Given the description of an element on the screen output the (x, y) to click on. 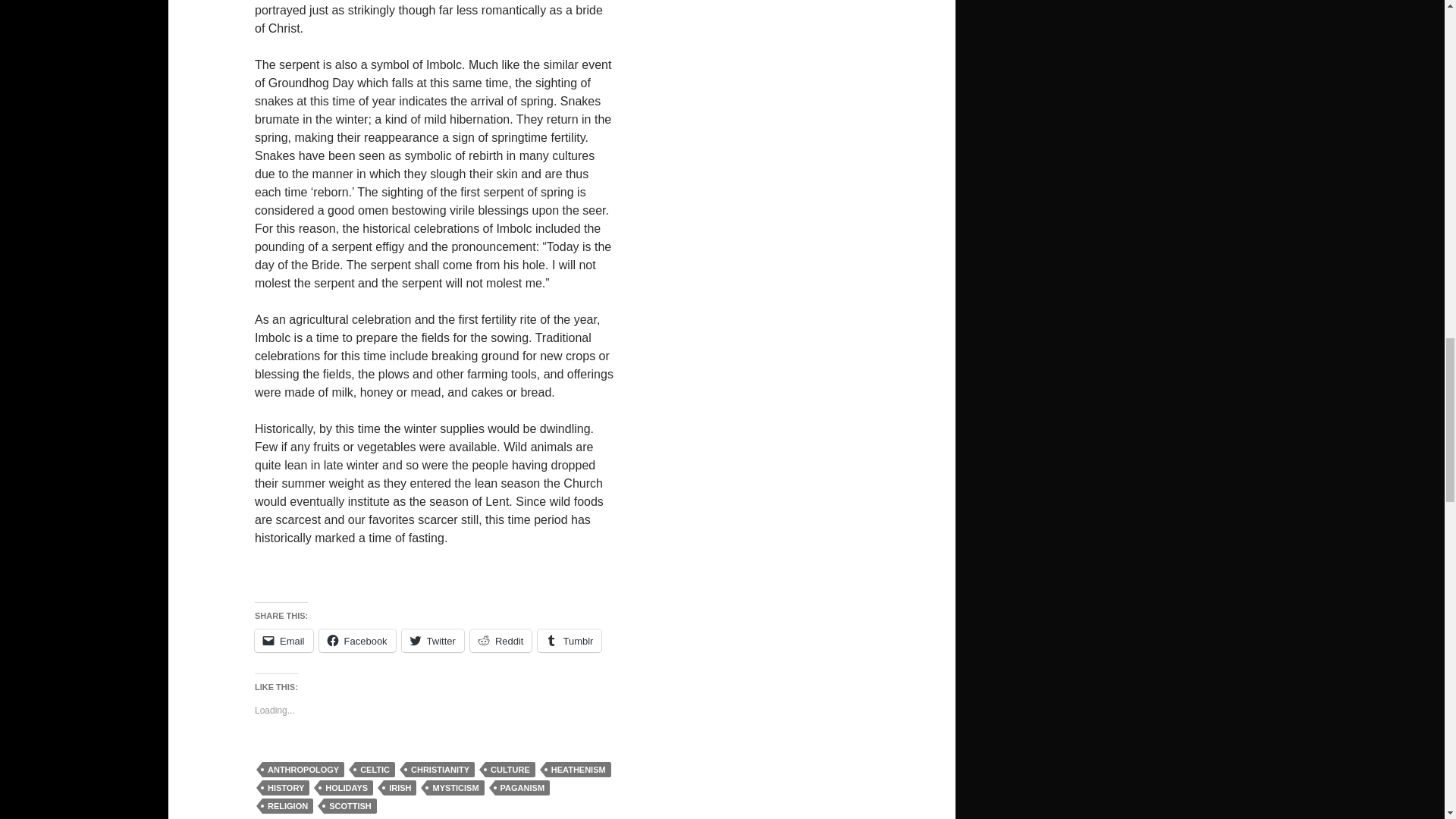
Click to share on Reddit (501, 640)
IRISH (400, 787)
Email (283, 640)
Click to share on Tumblr (569, 640)
CHRISTIANITY (440, 769)
HISTORY (285, 787)
CELTIC (374, 769)
Click to share on Twitter (432, 640)
RELIGION (287, 806)
Tumblr (569, 640)
